Given the description of an element on the screen output the (x, y) to click on. 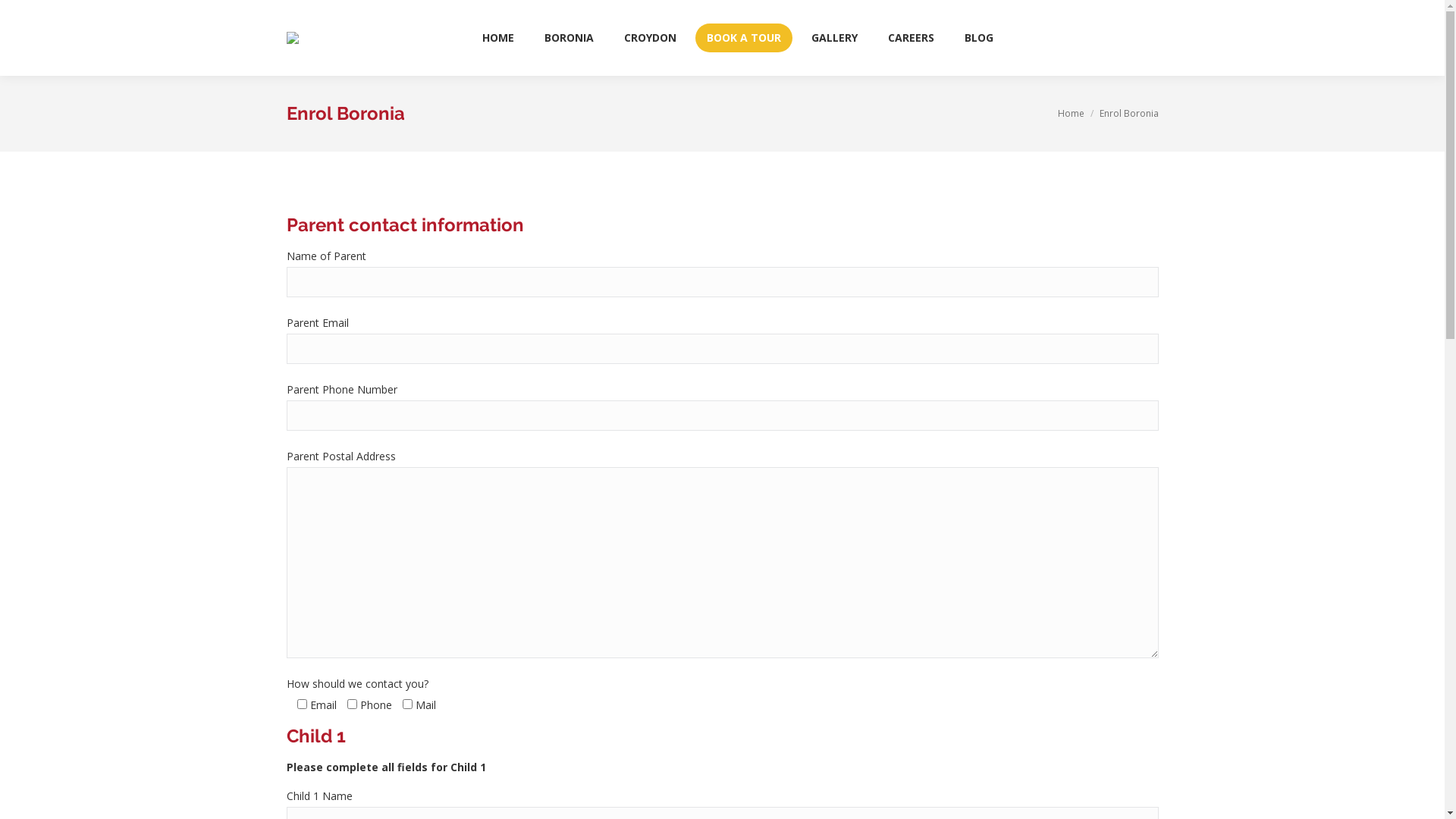
BORONIA Element type: text (569, 37)
CAREERS Element type: text (910, 37)
Home Element type: text (1070, 112)
BOOK A TOUR Element type: text (743, 37)
BLOG Element type: text (978, 37)
GALLERY Element type: text (834, 37)
HOME Element type: text (497, 37)
CROYDON Element type: text (649, 37)
